Given the description of an element on the screen output the (x, y) to click on. 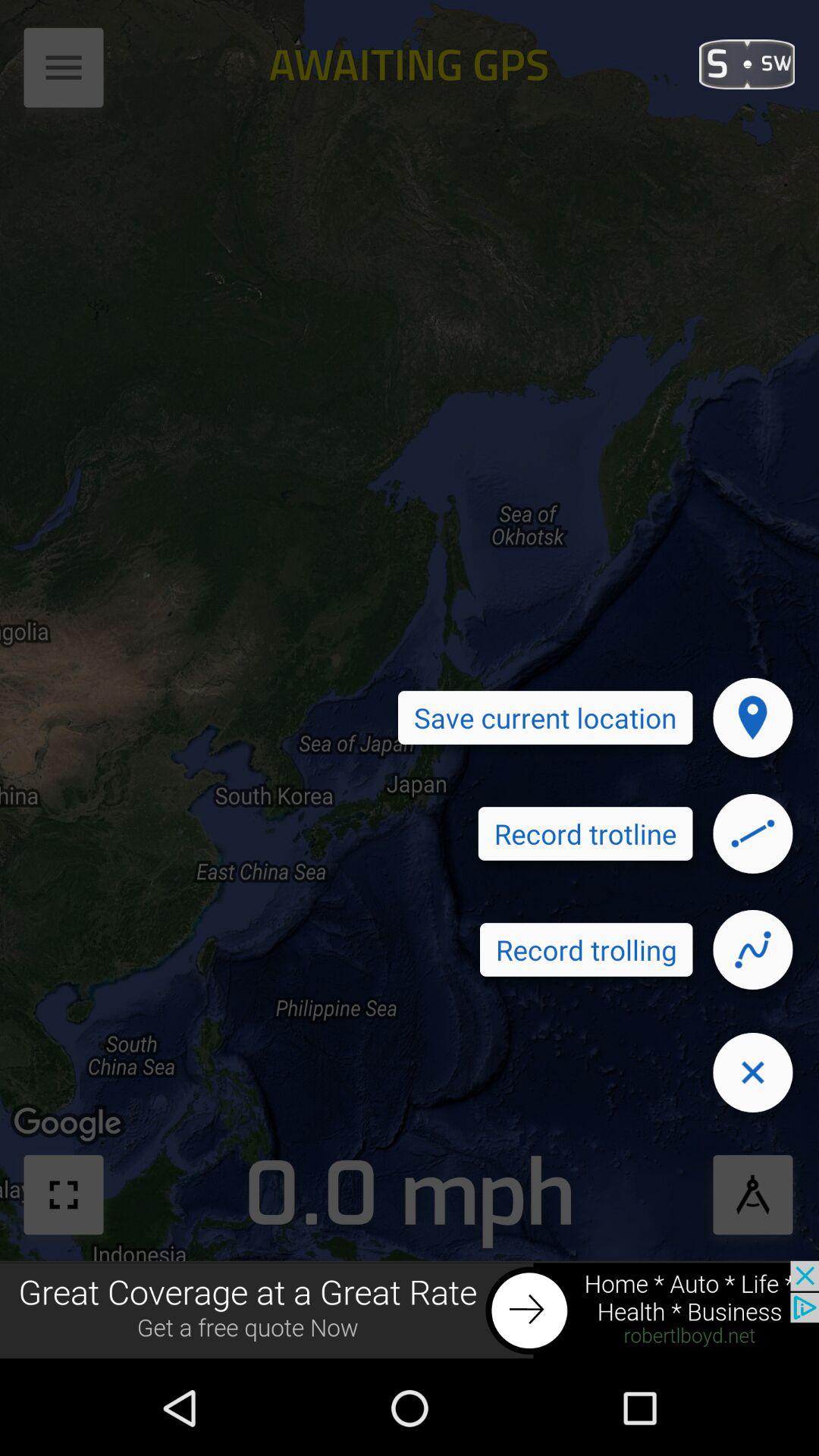
access pulldown menu (64, 72)
